Given the description of an element on the screen output the (x, y) to click on. 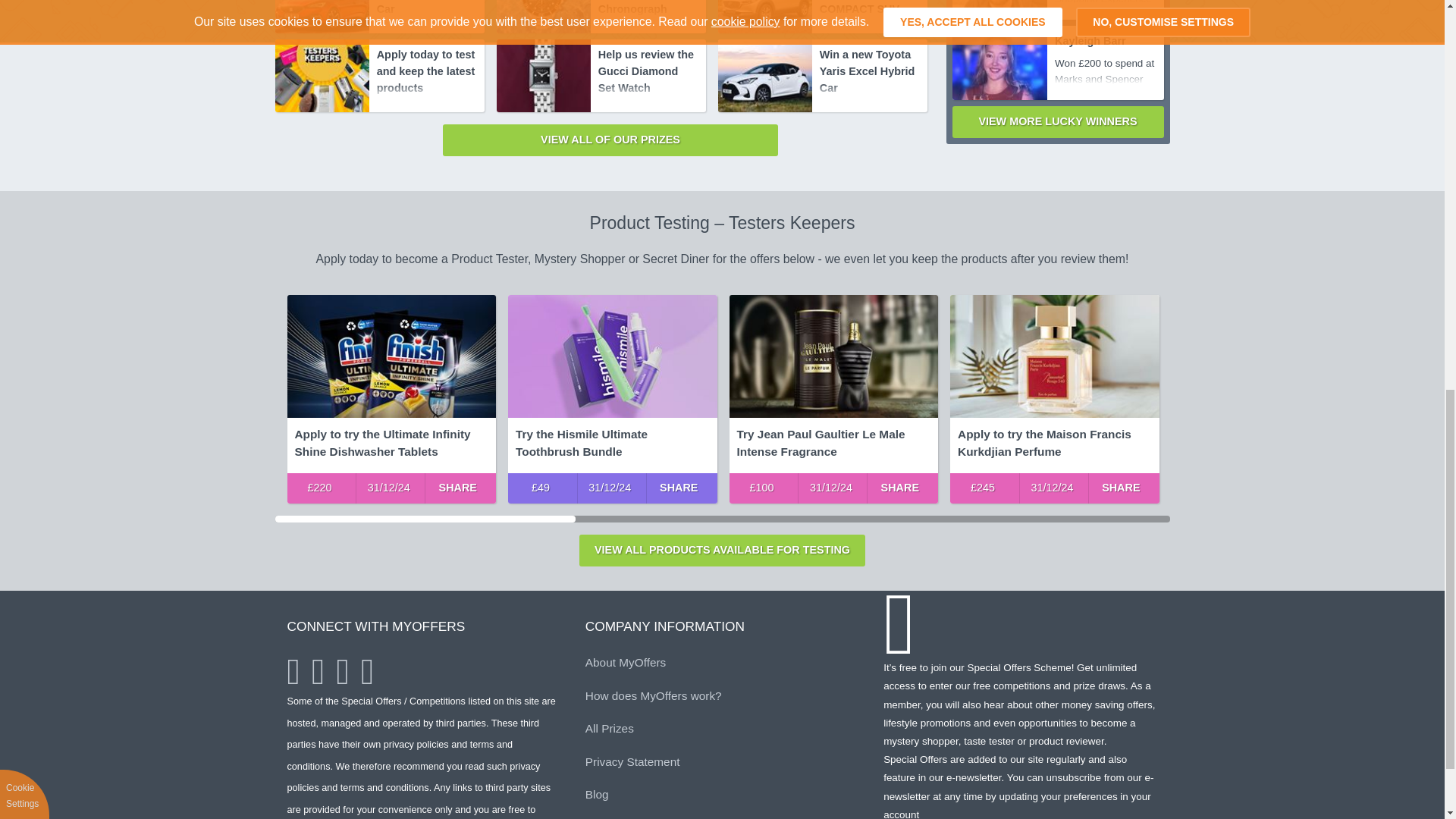
Help us review the Gucci Diamond Set Watch (543, 75)
Win a brand new Seat Leon e-Hybrid Car (426, 8)
Apply today to test and keep the latest products (426, 67)
Review the Tissot Seastar 1000 Chronograph Watch (543, 16)
Apply today to test and keep the latest products (321, 75)
Win a brand new Seat Leon e-Hybrid Car (321, 16)
